Given the description of an element on the screen output the (x, y) to click on. 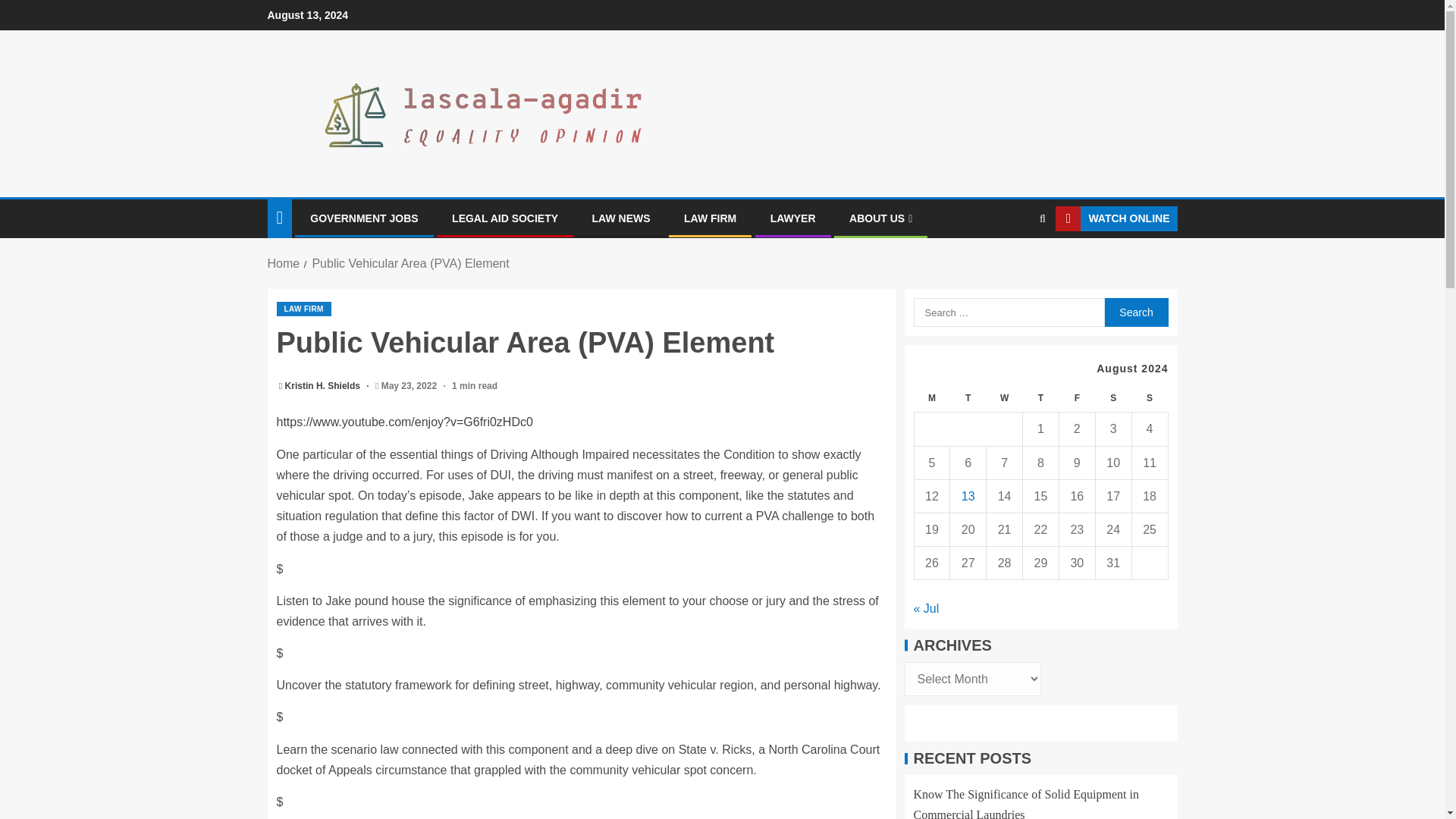
LAW FIRM (303, 309)
LAWYER (792, 218)
LAW FIRM (710, 218)
LEGAL AID SOCIETY (504, 218)
Kristin H. Shields (323, 385)
LAW NEWS (621, 218)
Wednesday (1005, 398)
Thursday (1041, 398)
ABOUT US (880, 218)
Search (1135, 312)
